Given the description of an element on the screen output the (x, y) to click on. 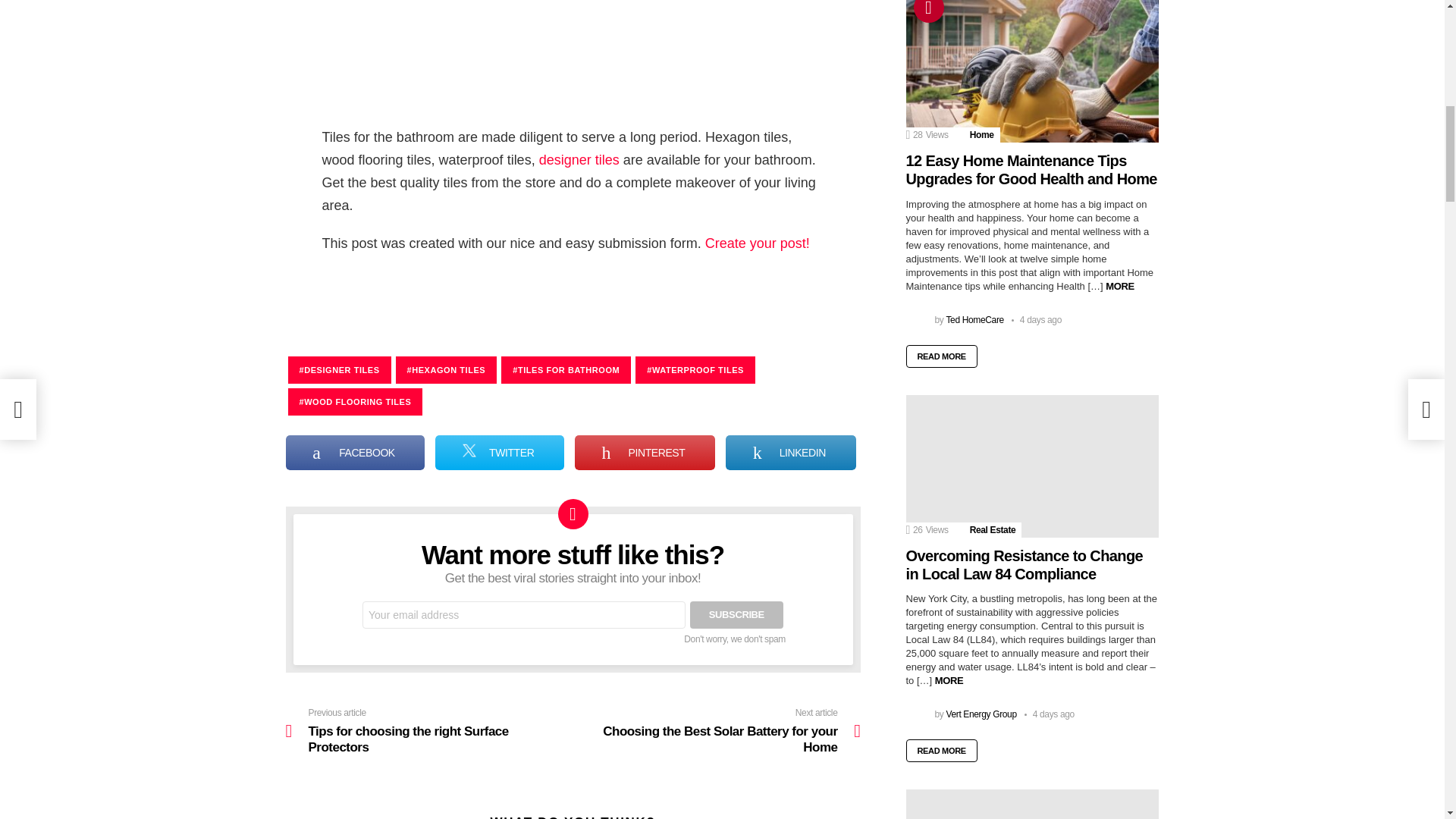
Subscribe (736, 614)
